Given the description of an element on the screen output the (x, y) to click on. 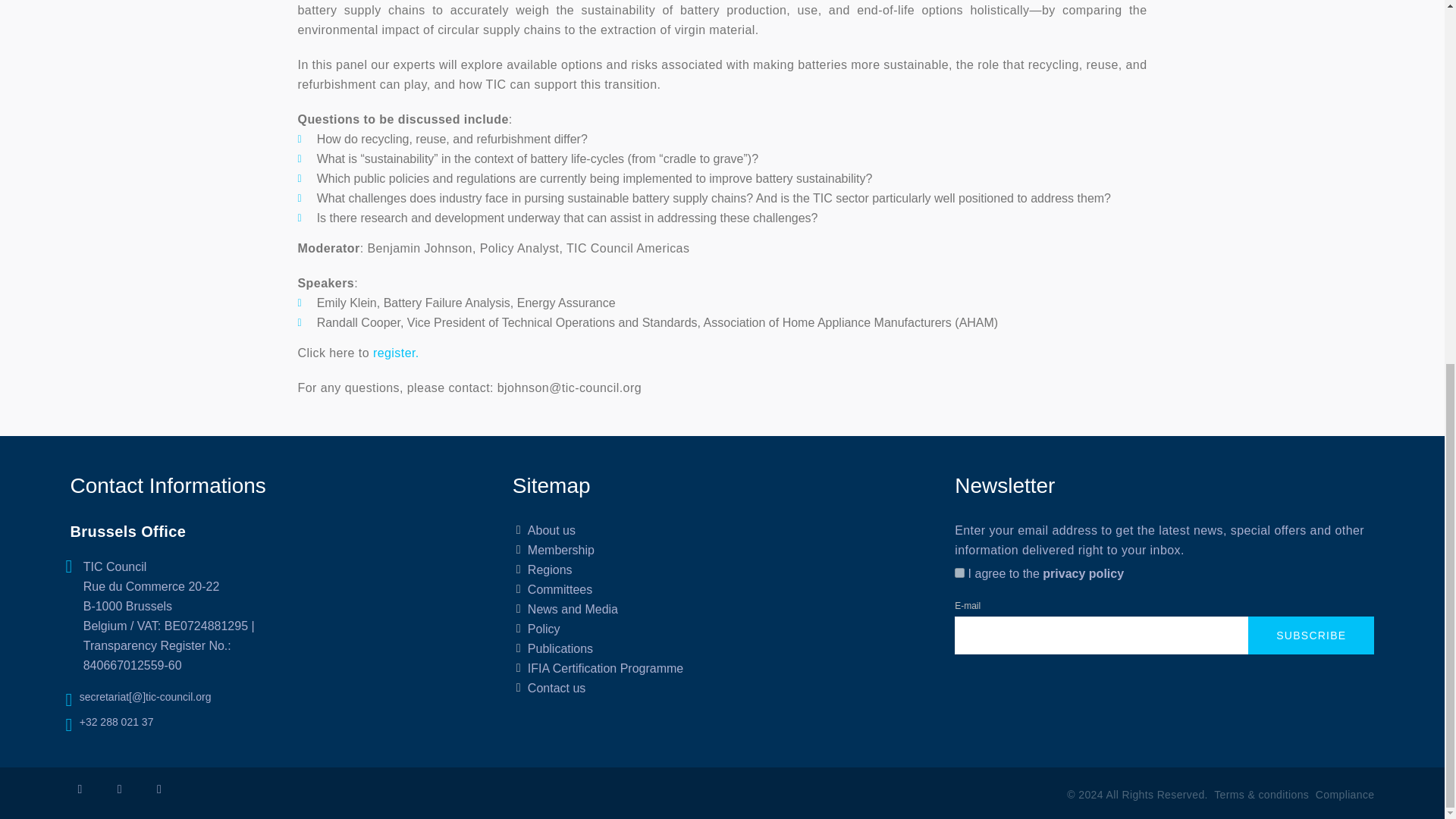
value (959, 573)
